Given the description of an element on the screen output the (x, y) to click on. 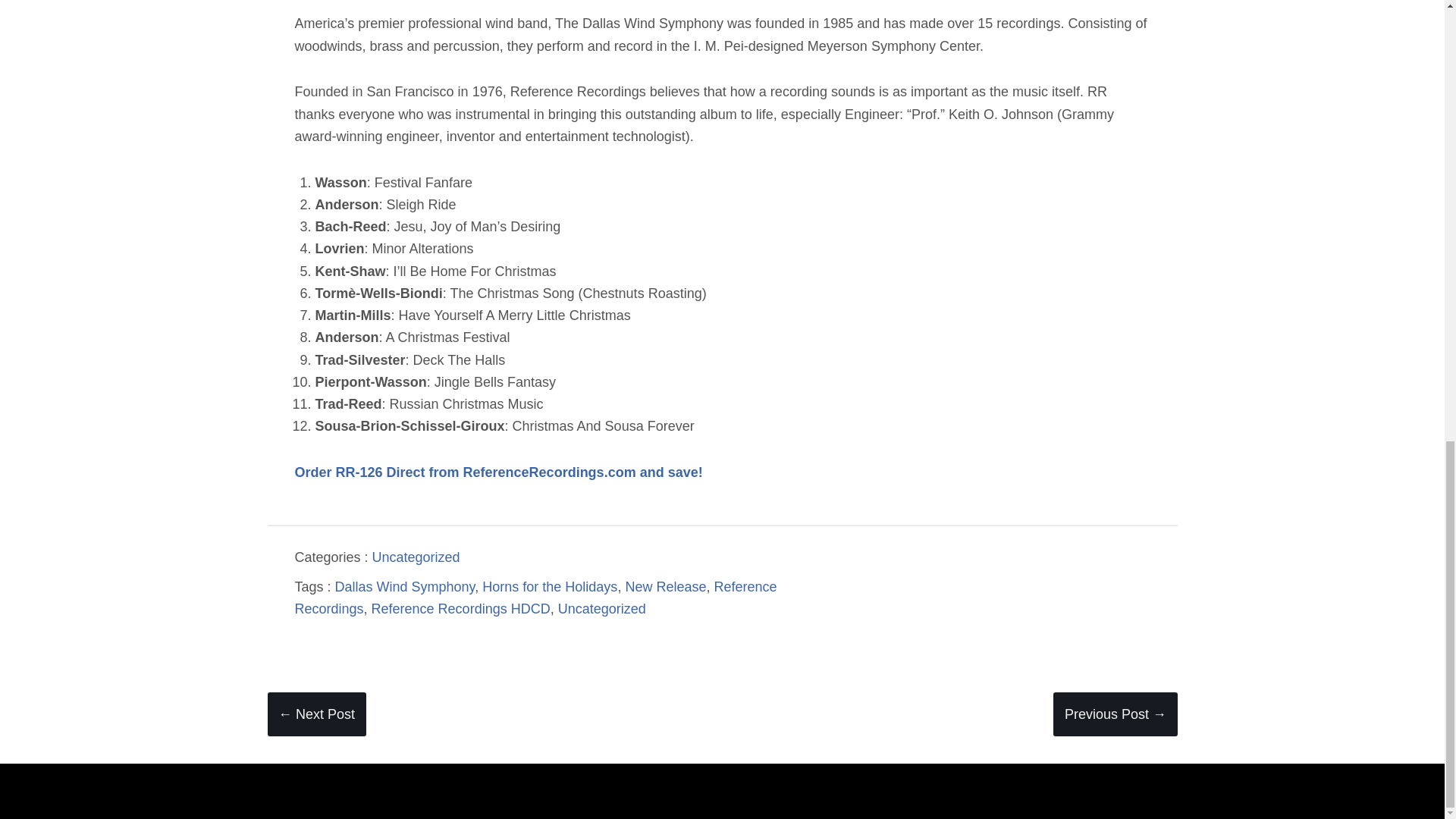
Dallas Wind Symphony Horns for the Holidays (497, 472)
